Given the description of an element on the screen output the (x, y) to click on. 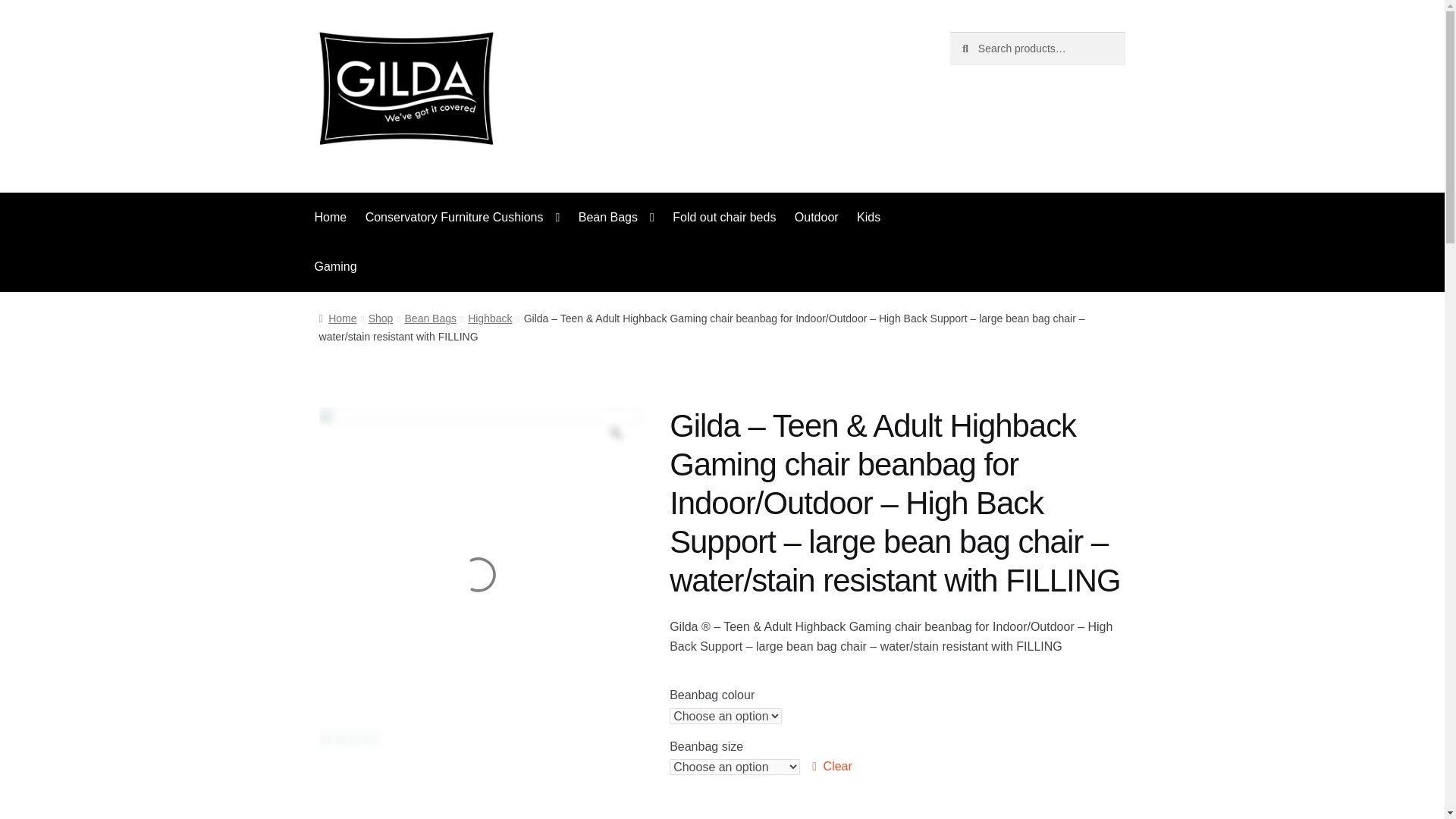
Bean Bags (616, 217)
Conservatory Furniture Cushions (462, 217)
Outdoor (816, 217)
Fold out chair beds (724, 217)
Home (331, 217)
Gaming (336, 266)
